Given the description of an element on the screen output the (x, y) to click on. 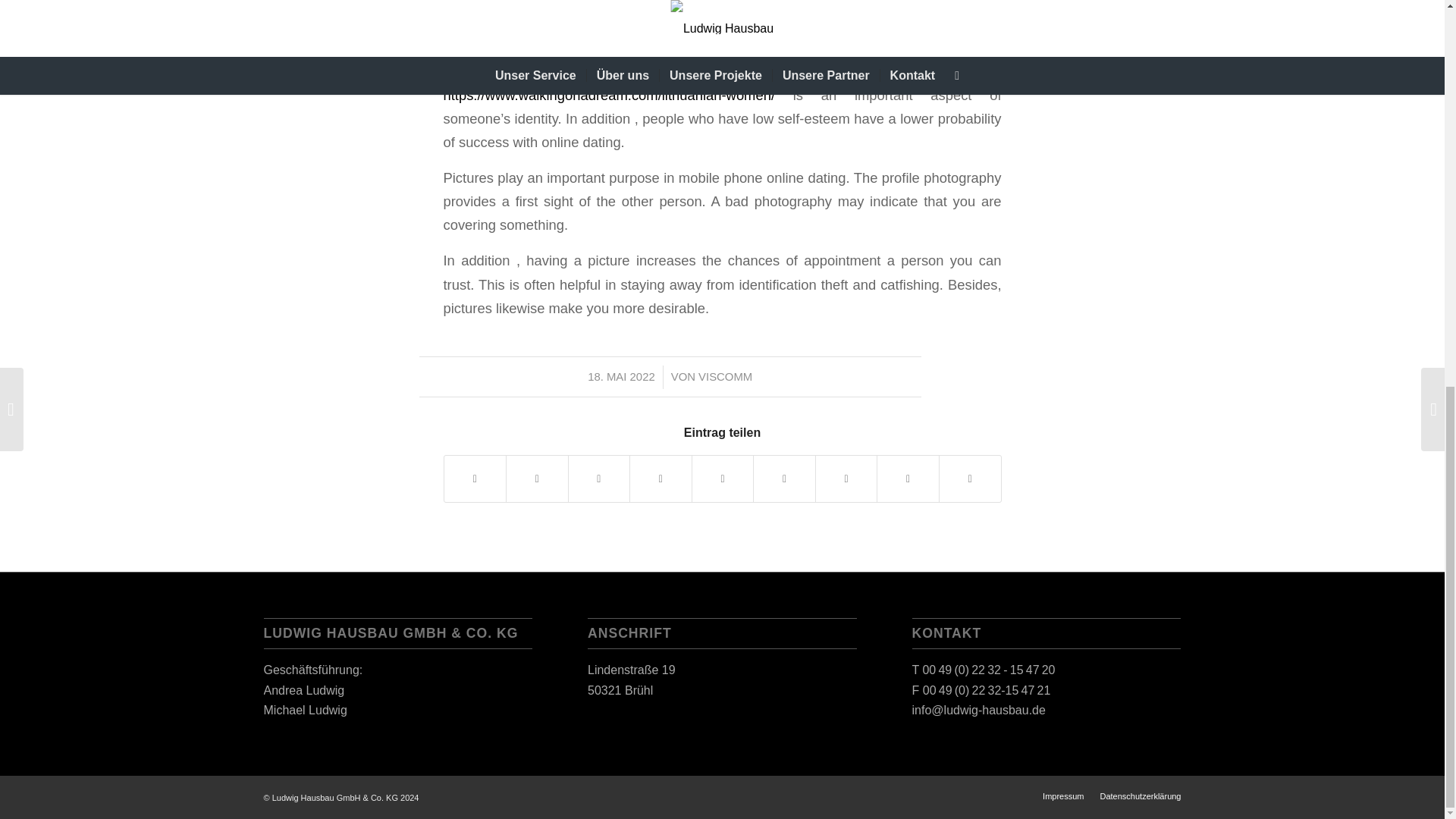
Impressum (1062, 795)
VISCOMM (725, 377)
